Given the description of an element on the screen output the (x, y) to click on. 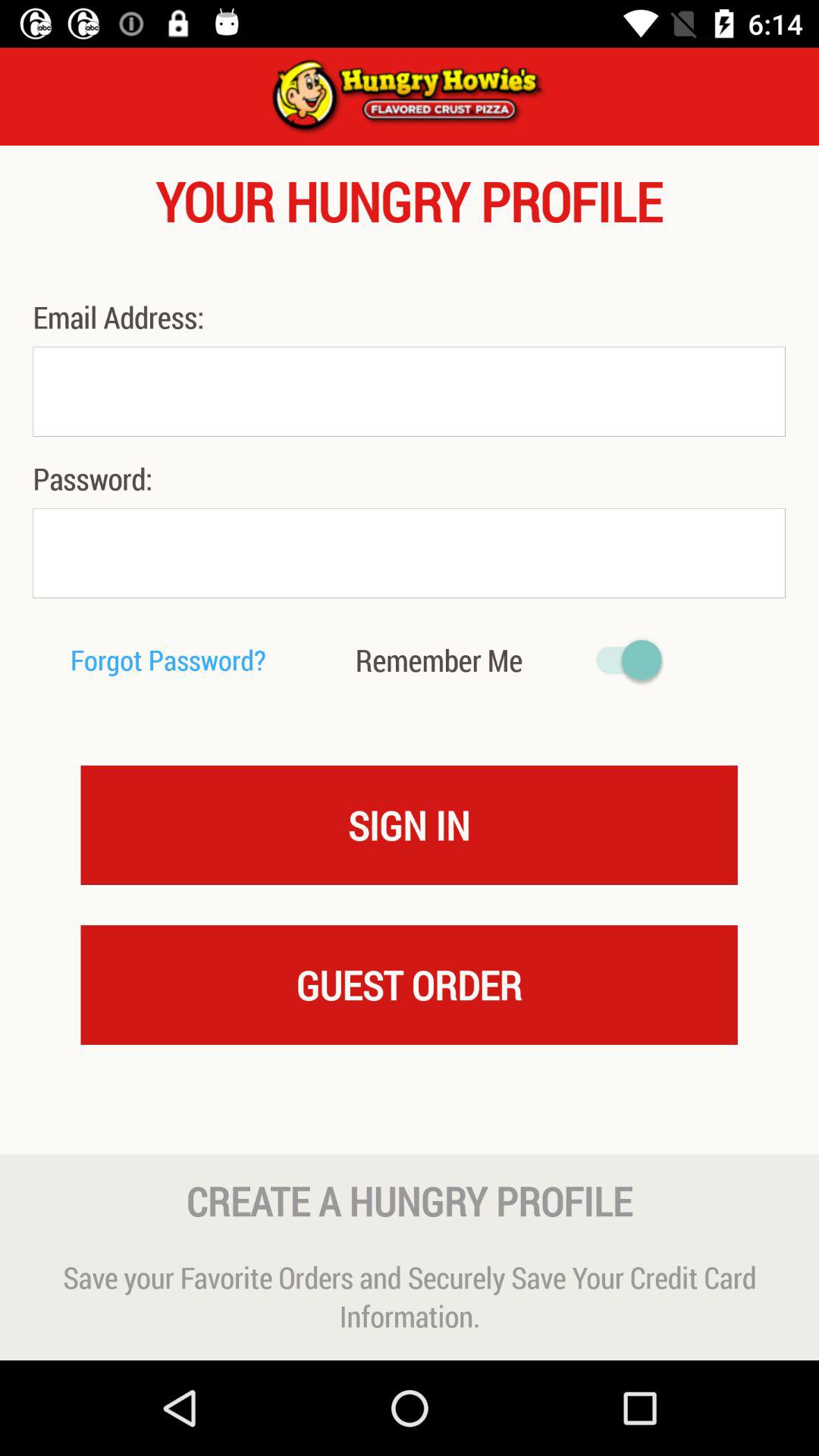
turn off the guest order icon (409, 984)
